Given the description of an element on the screen output the (x, y) to click on. 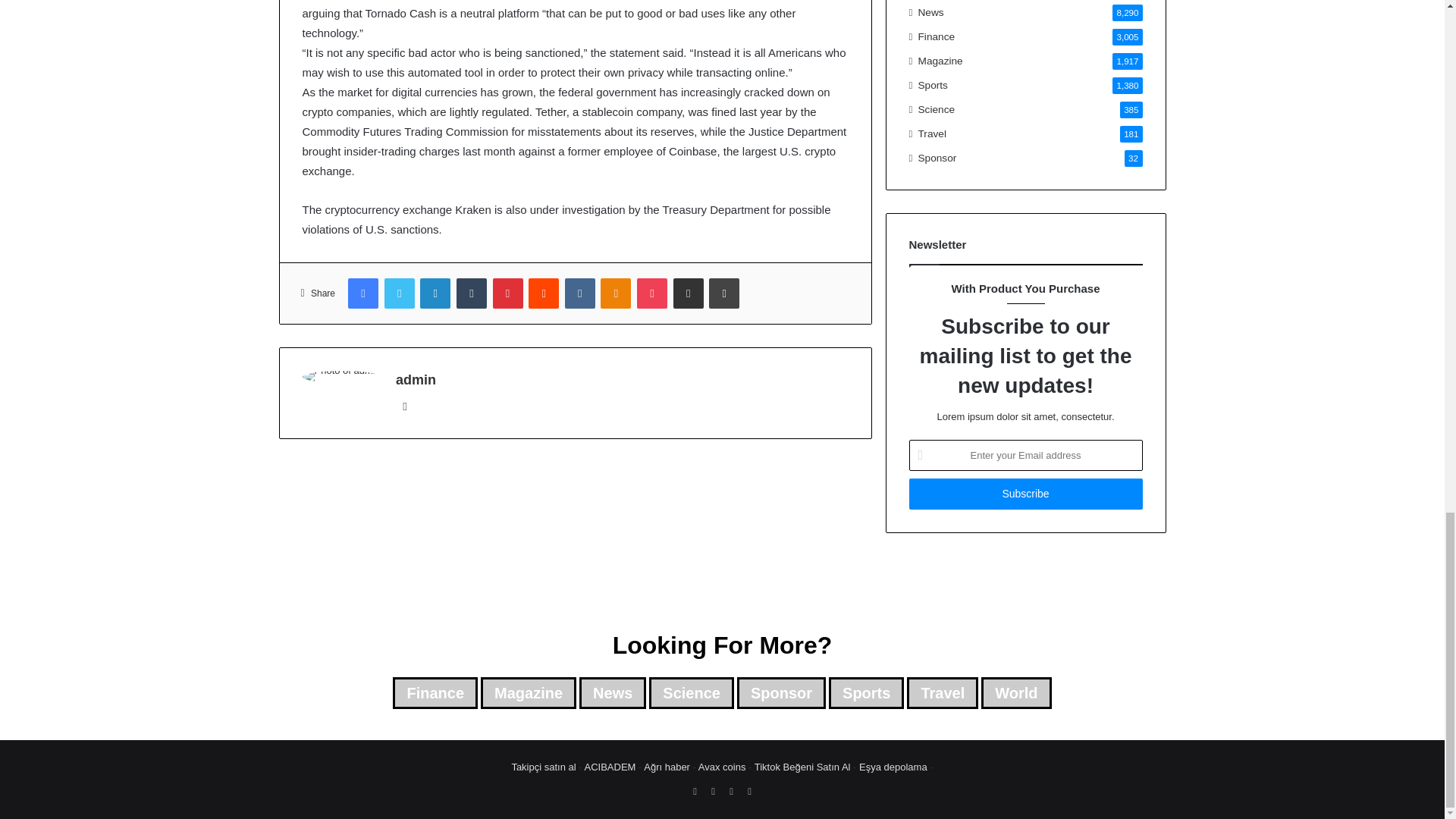
Subscribe (1025, 493)
